Given the description of an element on the screen output the (x, y) to click on. 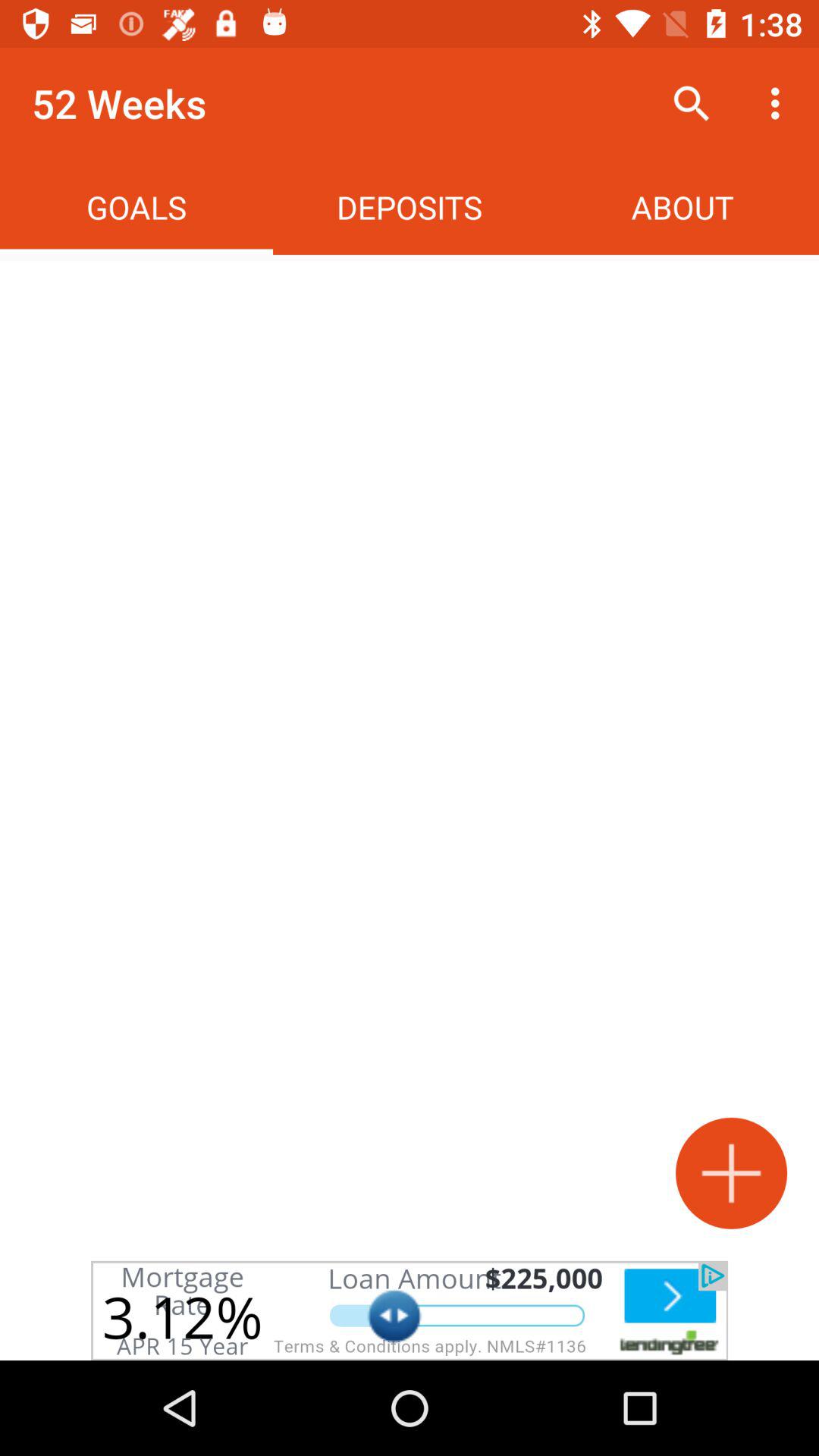
more options (731, 1173)
